Given the description of an element on the screen output the (x, y) to click on. 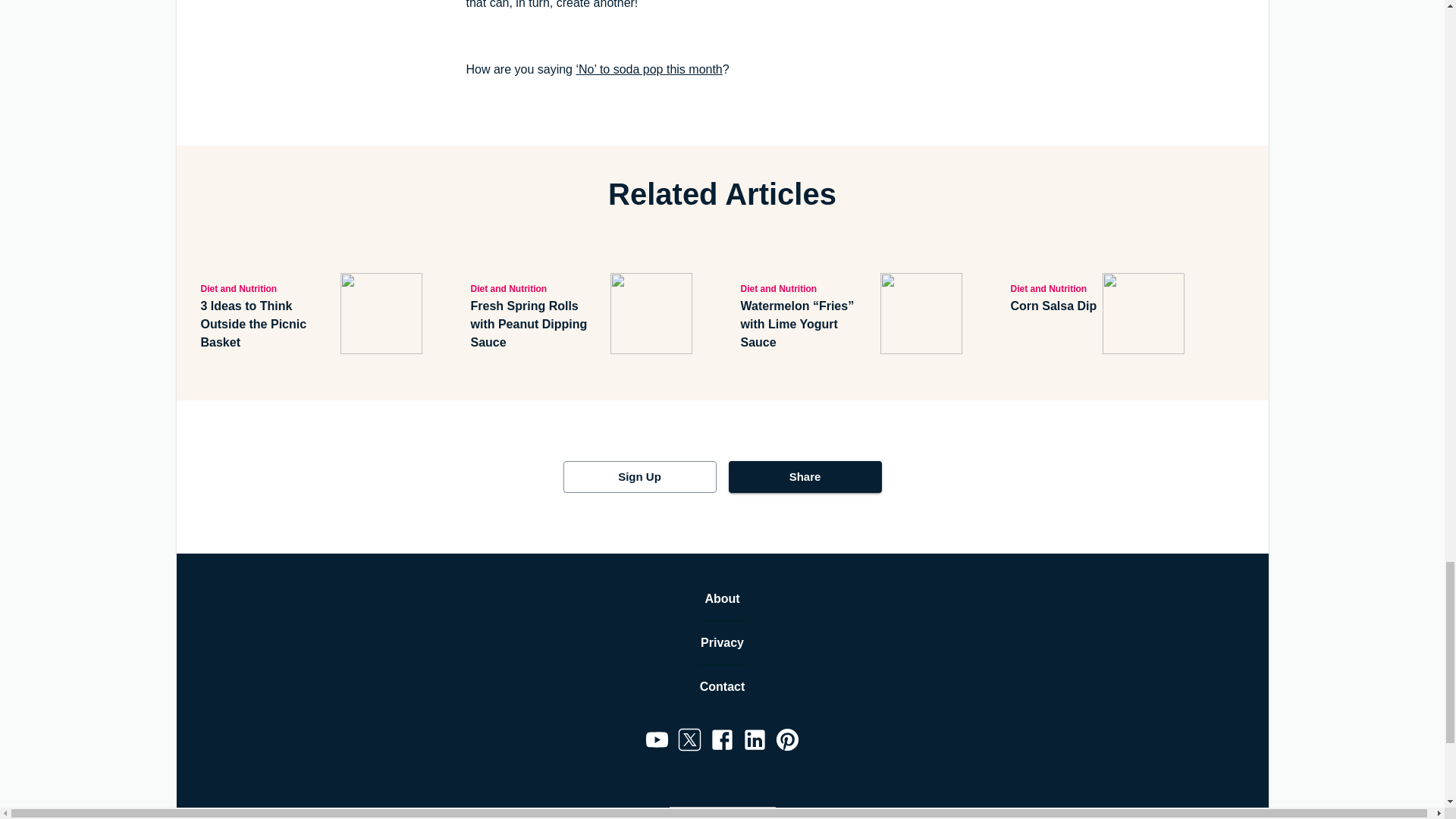
Share (804, 477)
Diet and Nutrition (537, 288)
Corn Salsa Dip (1053, 306)
Diet and Nutrition (807, 288)
Diet and Nutrition (267, 288)
Fresh Spring Rolls with Peanut Dipping Sauce (537, 324)
3 Ideas to Think Outside the Picnic Basket (267, 324)
About (721, 598)
Privacy (722, 642)
Diet and Nutrition (1053, 288)
Sign Up (639, 477)
Contact (722, 687)
